Given the description of an element on the screen output the (x, y) to click on. 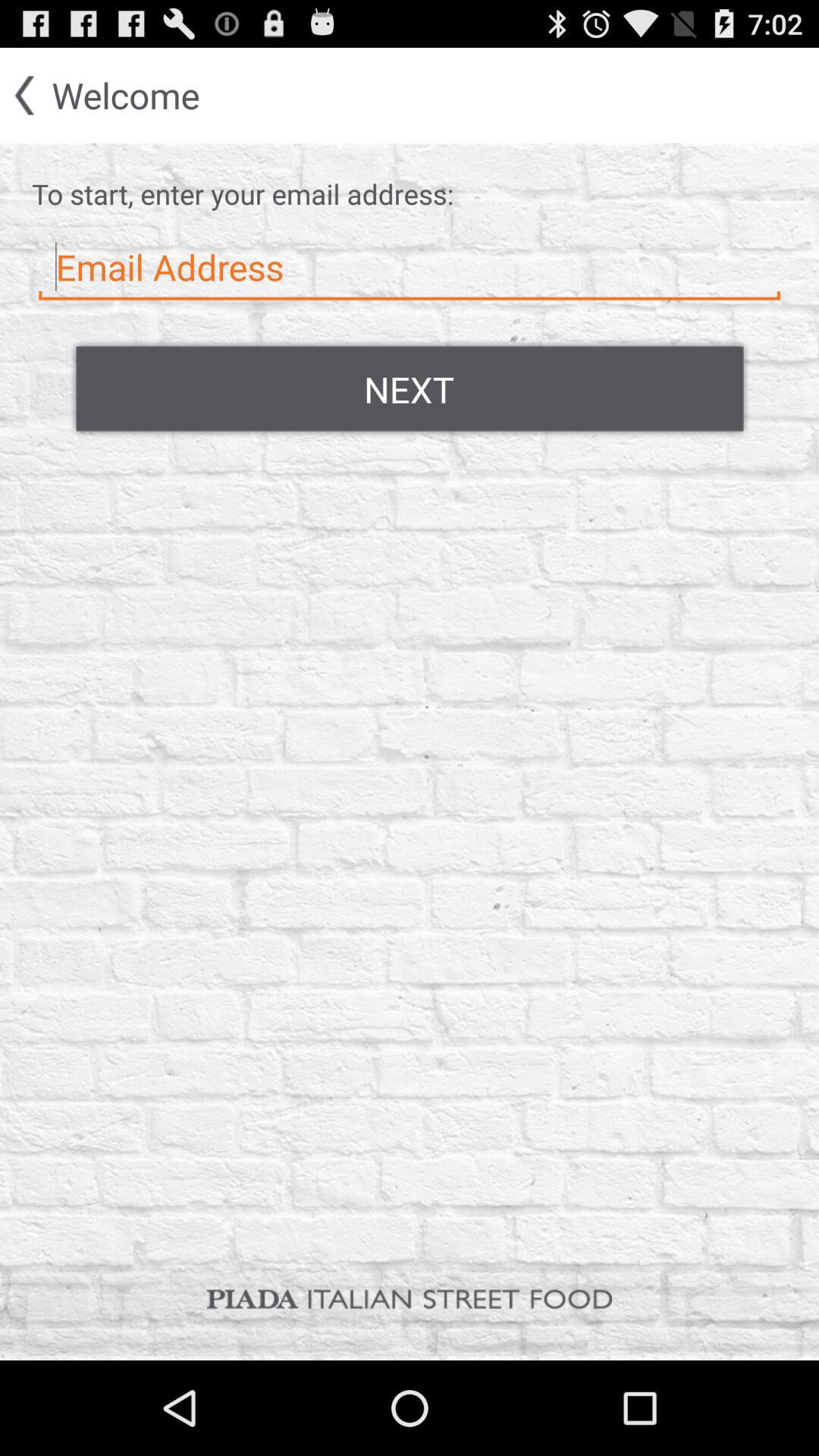
share the article (409, 267)
